Given the description of an element on the screen output the (x, y) to click on. 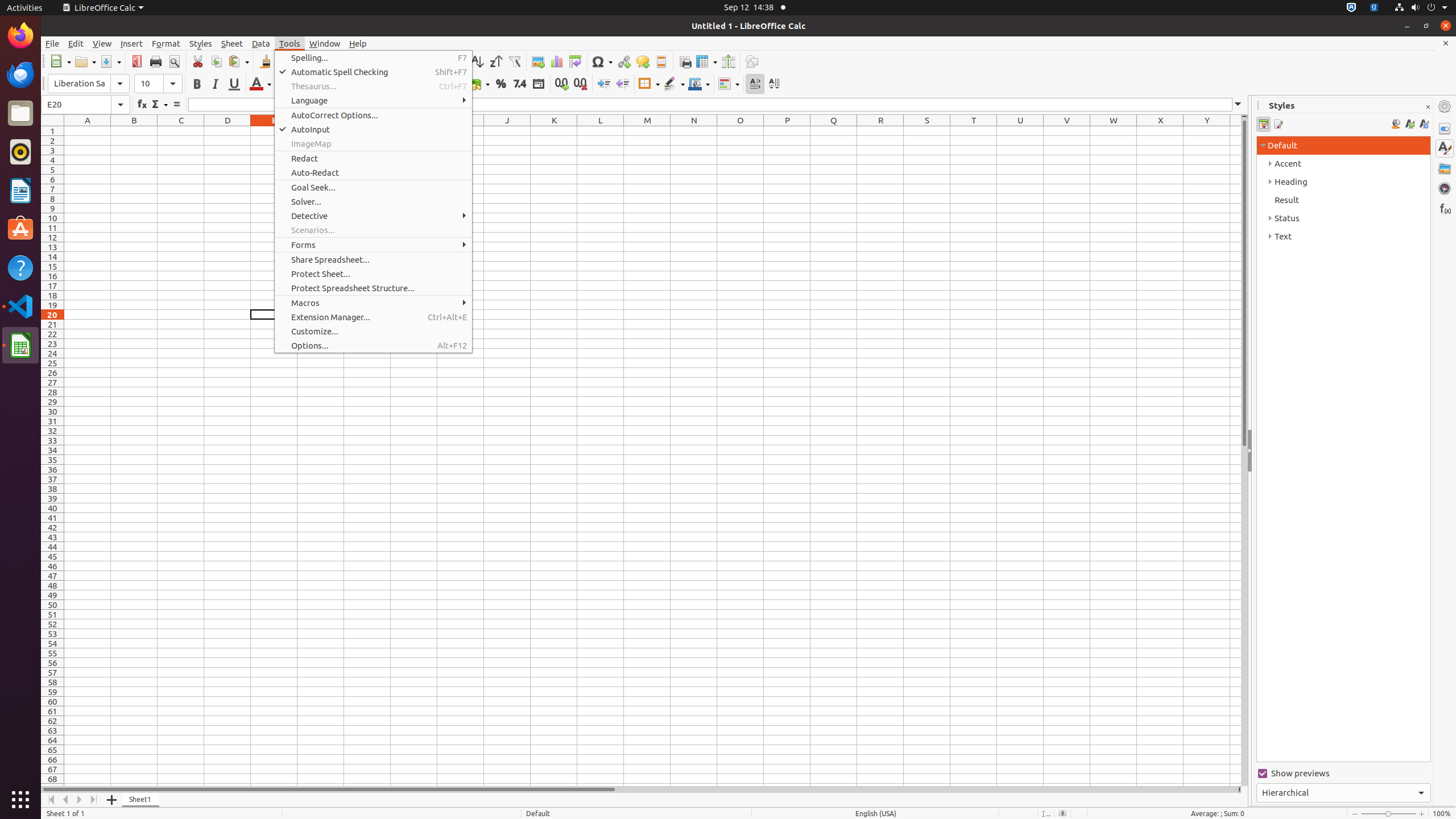
Borders (Shift to overwrite) Element type: push-button (648, 83)
Ubuntu Software Element type: push-button (20, 229)
PDF Element type: push-button (136, 61)
D1 Element type: table-cell (227, 130)
Function Wizard Element type: push-button (141, 104)
